Given the description of an element on the screen output the (x, y) to click on. 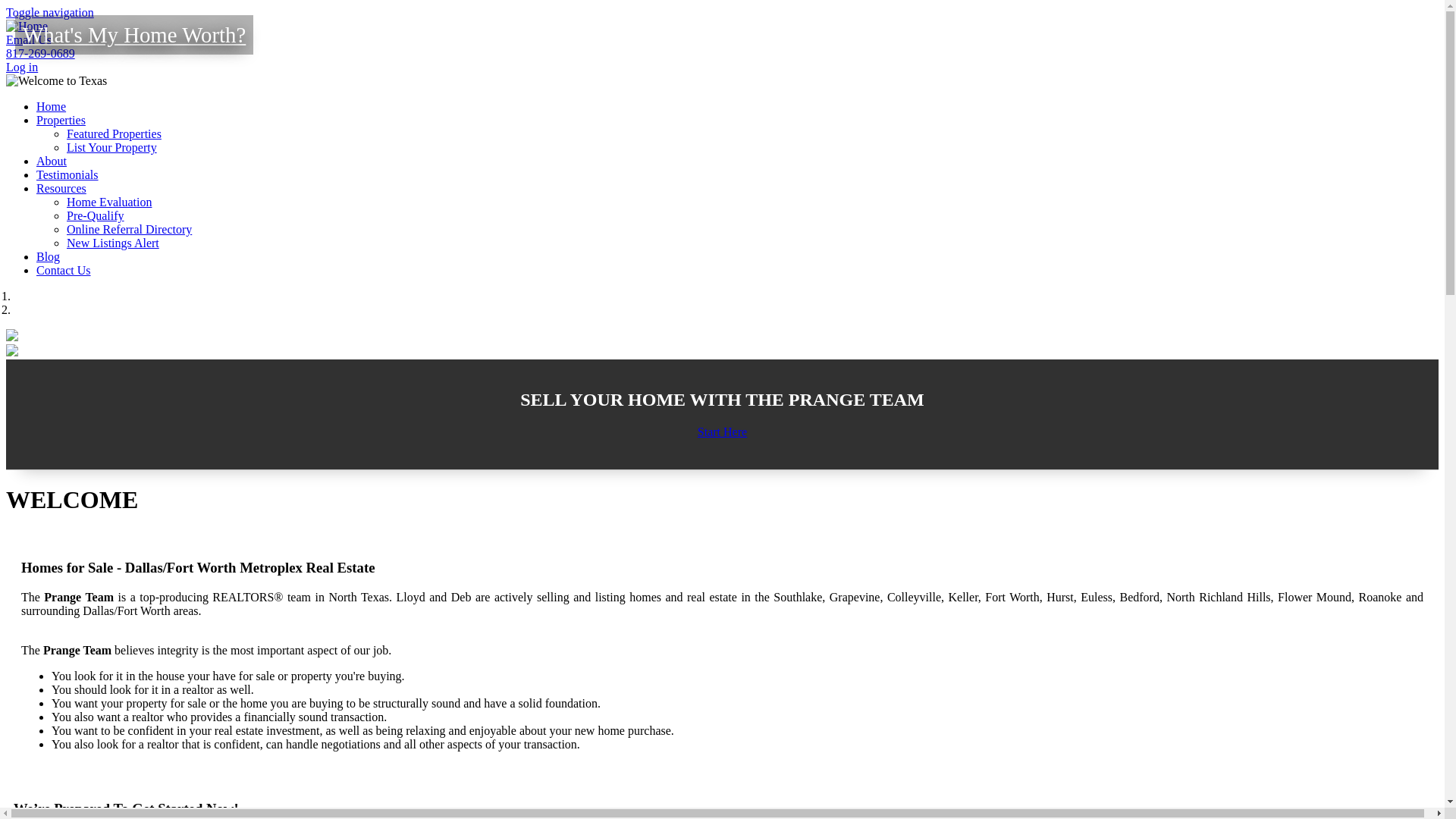
Testimonials (67, 174)
Resources (60, 187)
817-269-0689 (40, 52)
Home (50, 106)
Featured Properties (113, 133)
New Listings Alert (112, 242)
Blog (47, 256)
Toggle navigation (49, 11)
Home (26, 25)
About (51, 160)
